Given the description of an element on the screen output the (x, y) to click on. 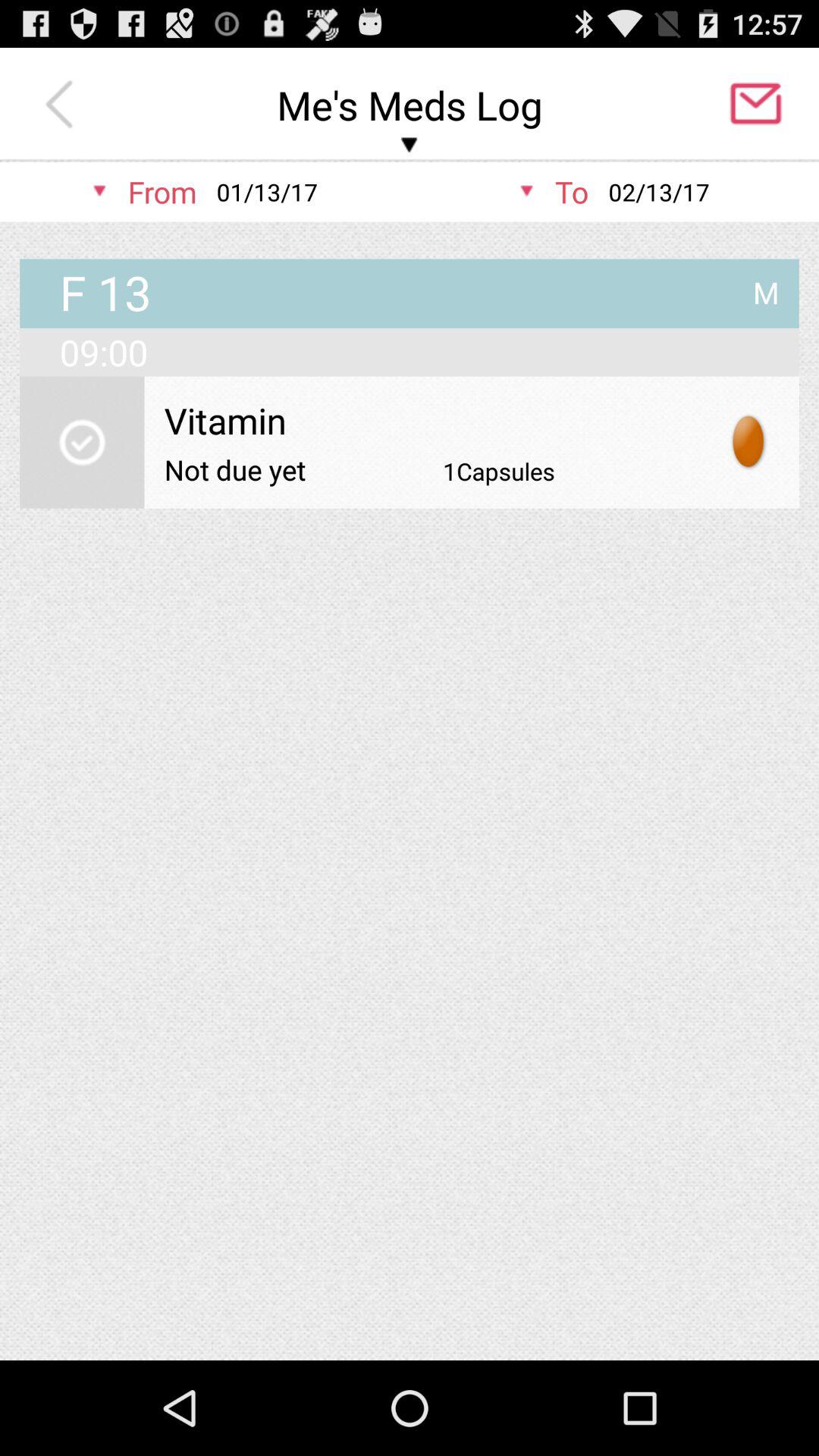
press the item next to the vitamin item (749, 442)
